Given the description of an element on the screen output the (x, y) to click on. 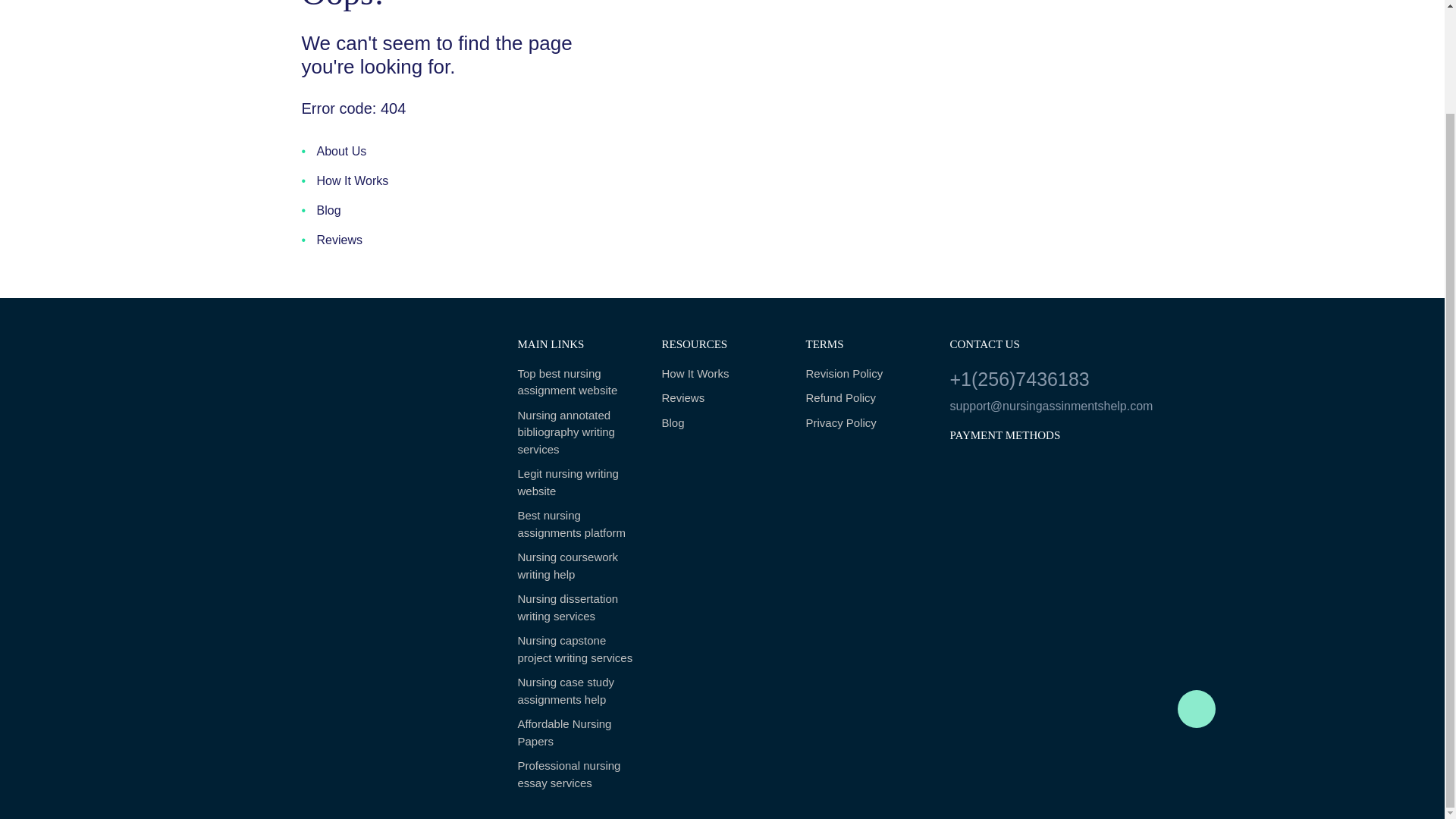
Reviews (331, 239)
Blog (722, 423)
Professional nursing essay services (577, 774)
Refund Policy (865, 398)
Nursing case study assignments help (577, 691)
Revision Policy (865, 374)
How It Works (344, 180)
Blog (320, 210)
How It Works (722, 374)
Nursing capstone project writing services (577, 649)
